Given the description of an element on the screen output the (x, y) to click on. 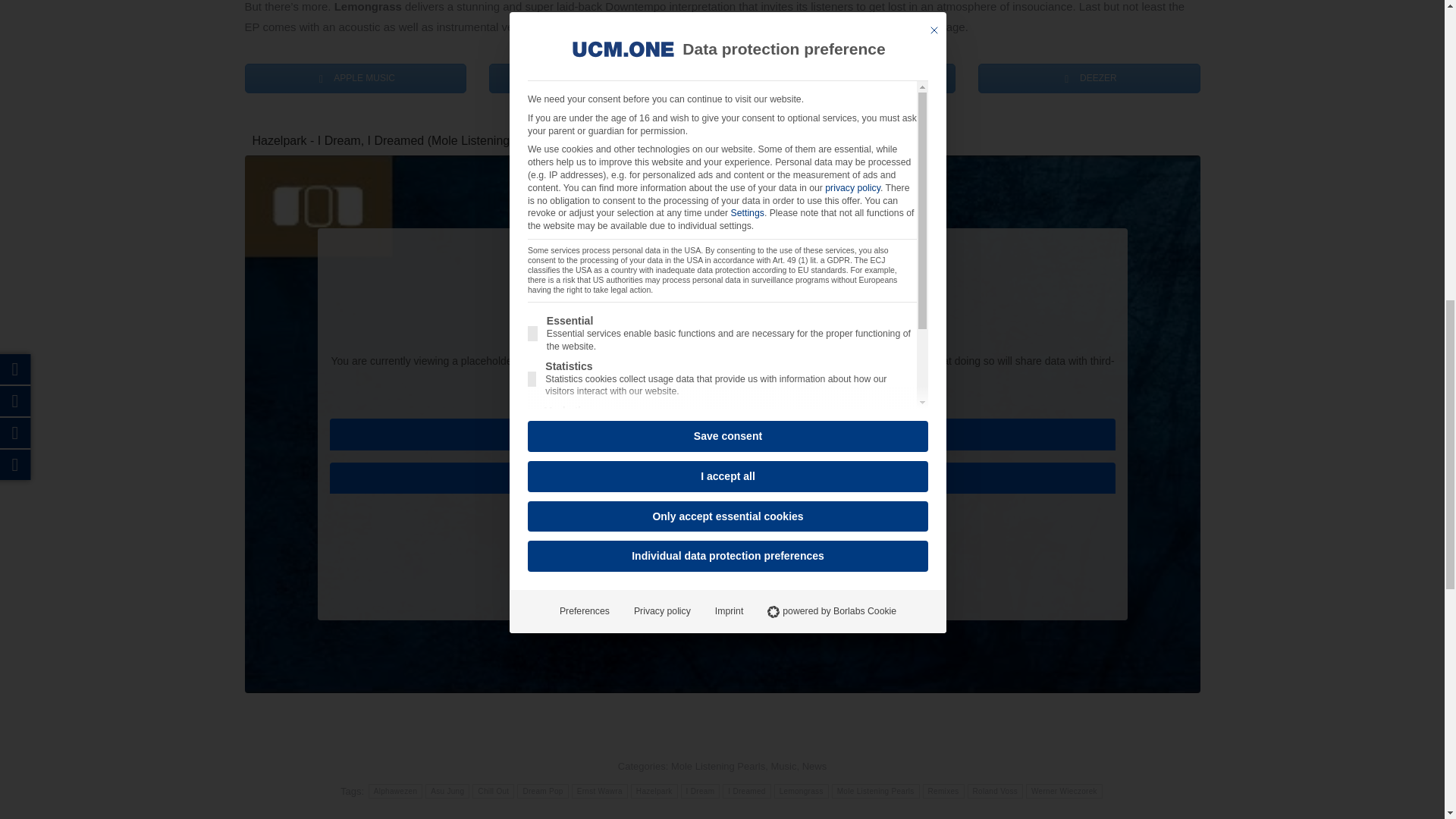
Spotify (600, 78)
Apple Music (354, 78)
Deezer (1088, 78)
Amazon Music (844, 78)
